Given the description of an element on the screen output the (x, y) to click on. 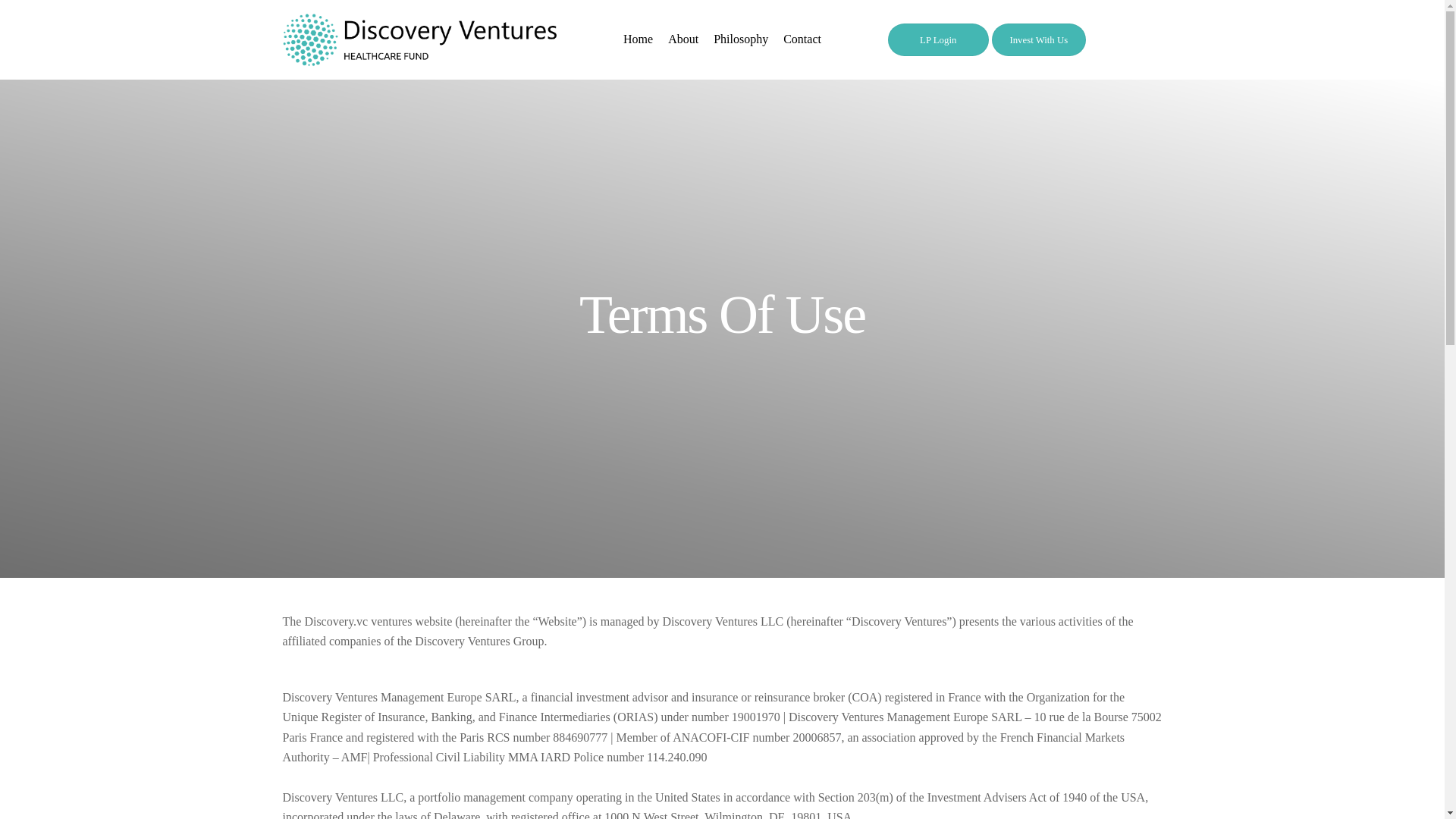
Contact (802, 39)
LP Login (938, 39)
Philosophy (741, 39)
Terms Of Uses (419, 39)
About (683, 39)
Home (638, 39)
Invest With Us (1038, 39)
